Given the description of an element on the screen output the (x, y) to click on. 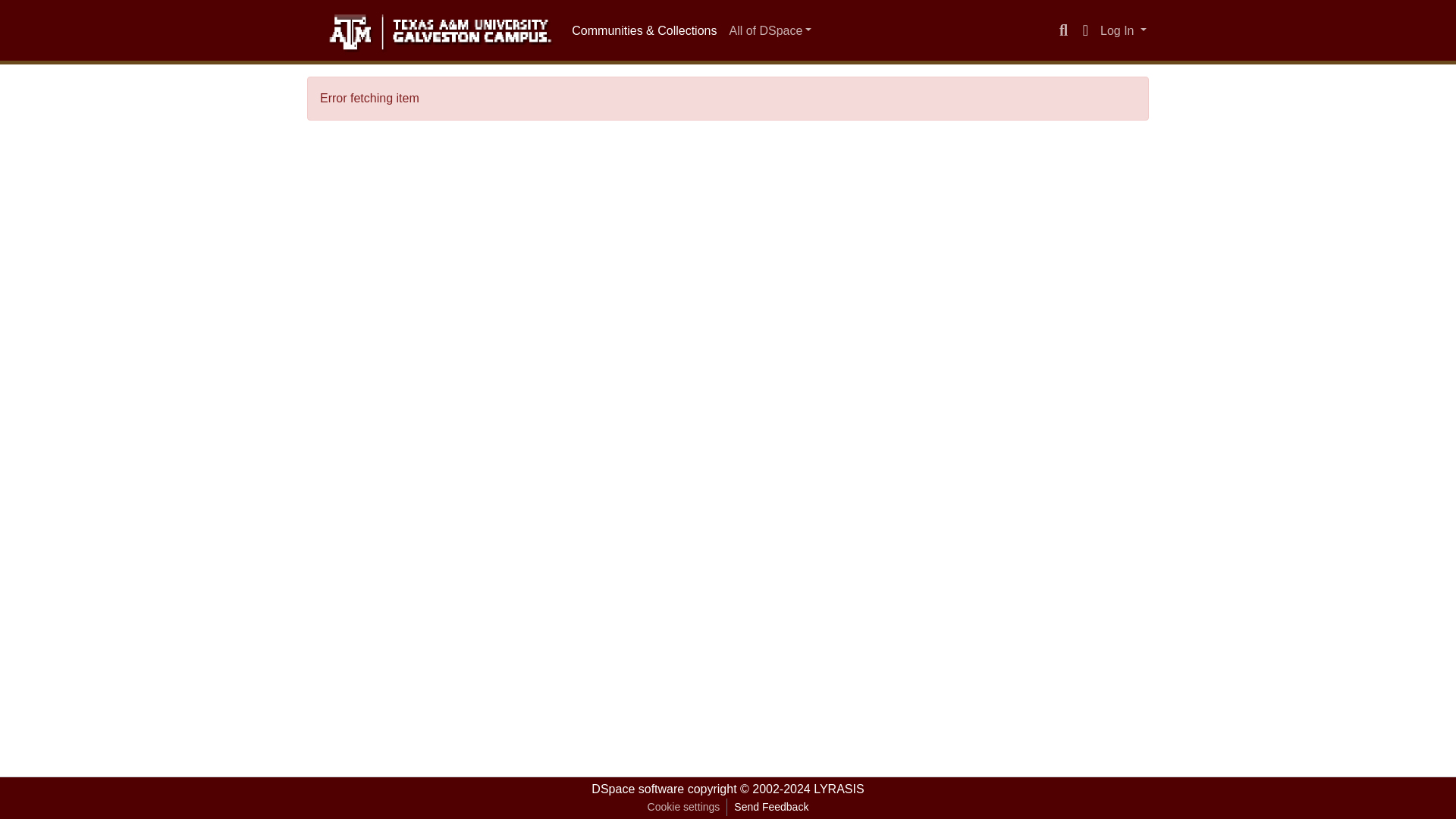
Search (1063, 30)
LYRASIS (838, 788)
Log In (1122, 30)
DSpace software (637, 788)
Language switch (1084, 30)
All of DSpace (769, 30)
Cookie settings (683, 806)
Send Feedback (770, 806)
